Given the description of an element on the screen output the (x, y) to click on. 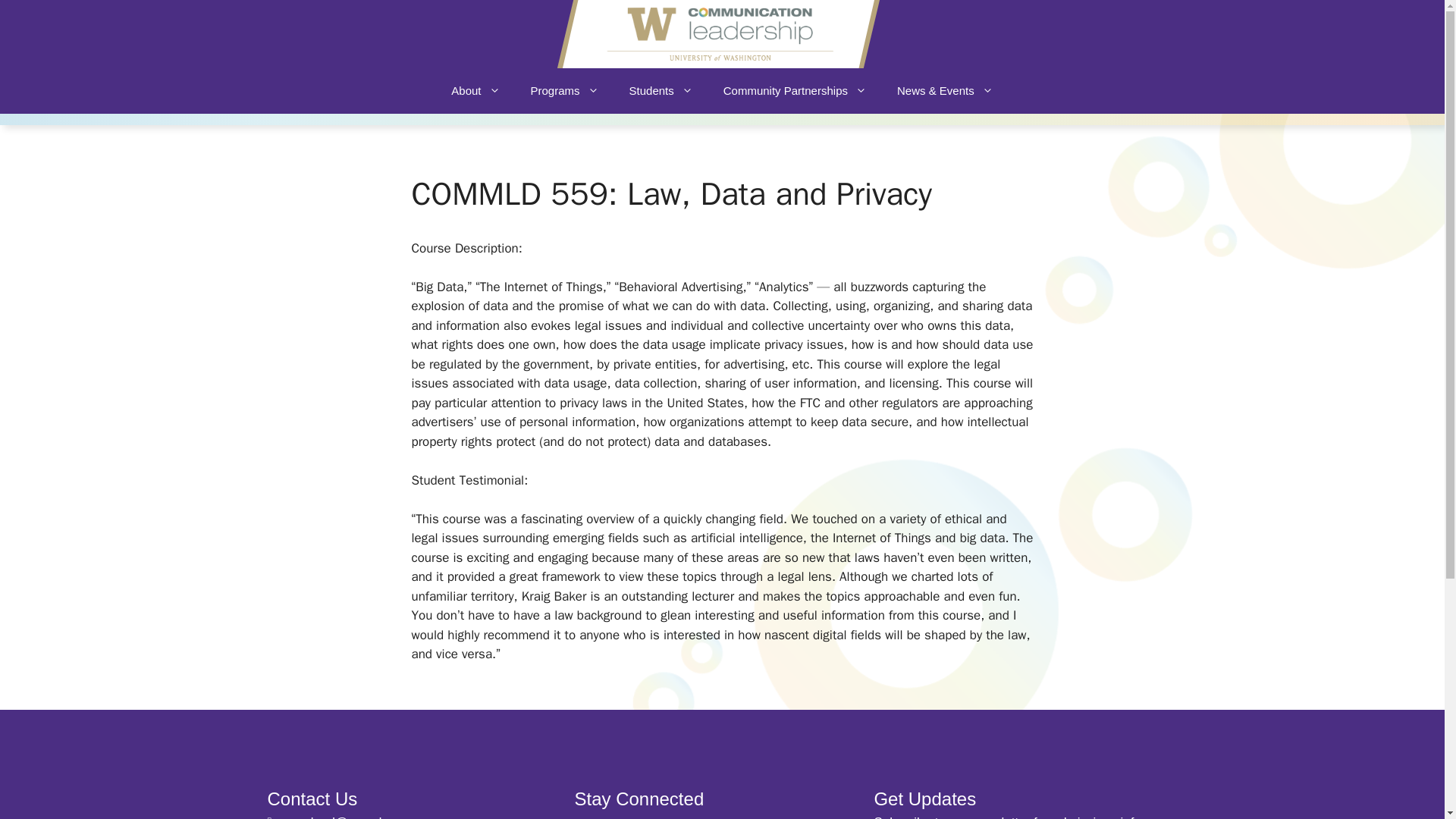
WeChat (759, 816)
Facebook (691, 816)
Twitter (724, 816)
YouTube (656, 816)
About (475, 90)
LinkedIn (587, 816)
Communication Leadership (717, 33)
Instagram (622, 816)
